Given the description of an element on the screen output the (x, y) to click on. 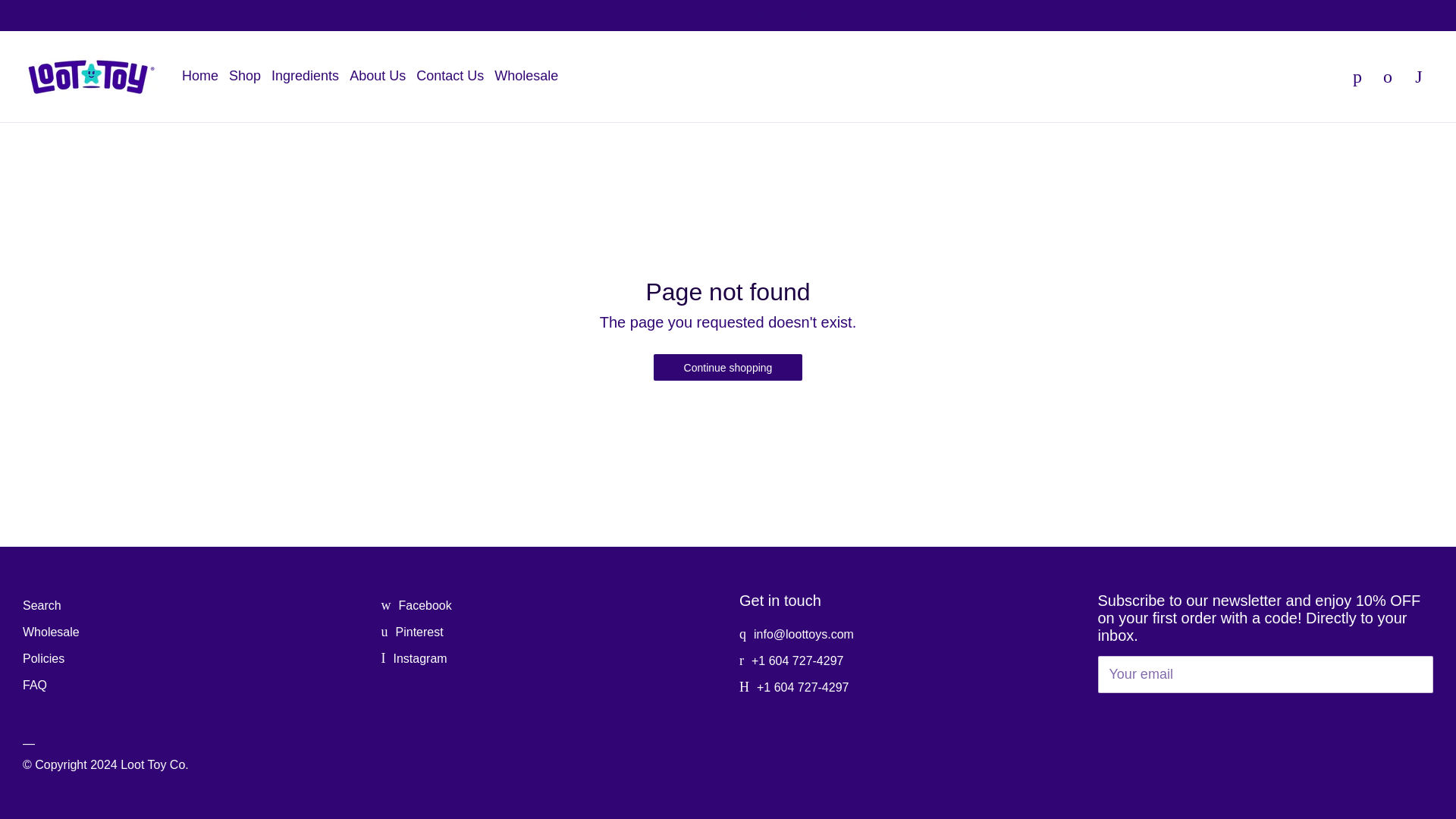
Loot Toy Co. on Facebook (415, 604)
Shop (244, 76)
About Us (377, 76)
Search (42, 604)
Pinterest (411, 631)
Instagram (413, 658)
FAQ (34, 684)
Wholesale (51, 631)
Loot Toy Co. on Instagram (413, 658)
Ingredients (304, 76)
Continue shopping (728, 366)
Home (200, 76)
Wholesale (526, 76)
Facebook (415, 604)
Contact Us (449, 76)
